Given the description of an element on the screen output the (x, y) to click on. 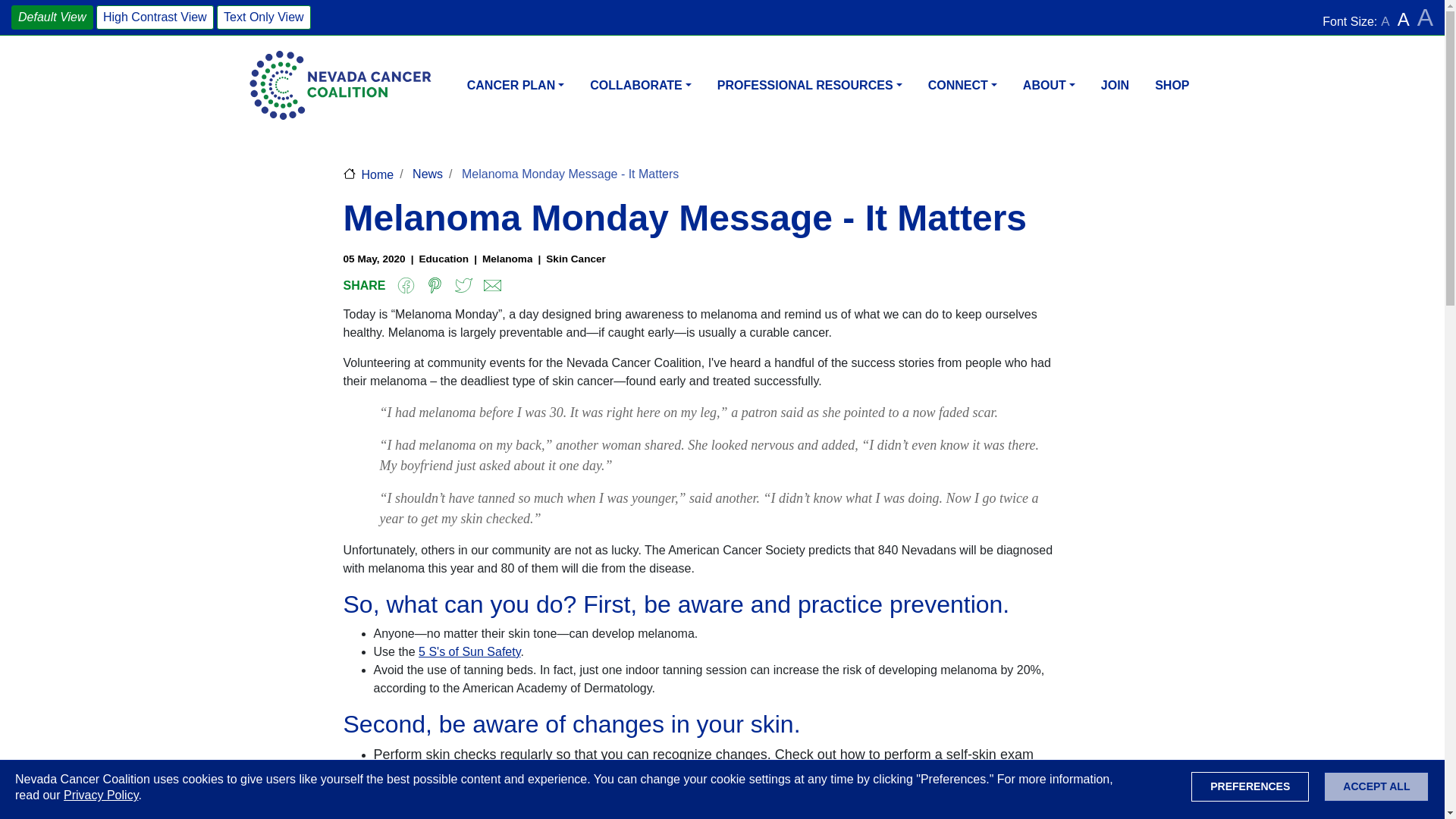
Home (339, 84)
Skip to main content (721, 1)
Enter the terms you wish to search for. (1093, 17)
PREFERENCES (1249, 786)
CANCER PLAN (515, 94)
Privacy Policy (101, 794)
High Contrast View (155, 16)
LinkedIn (943, 17)
Youtube (913, 17)
Default  (52, 16)
